Given the description of an element on the screen output the (x, y) to click on. 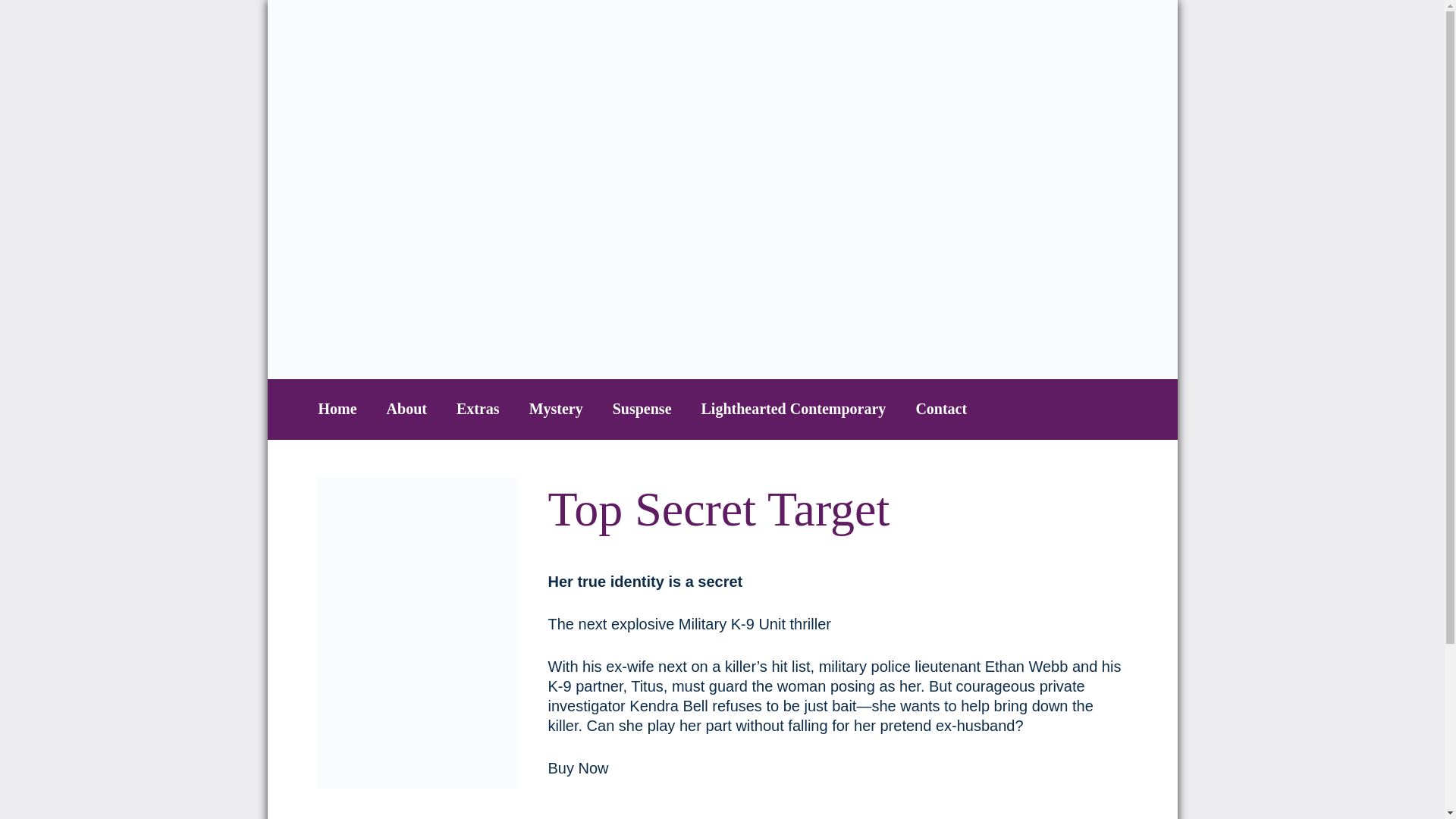
Mystery (556, 408)
Home (337, 408)
Contact (940, 408)
About (406, 408)
Suspense (641, 408)
Extras (478, 408)
Lighthearted Contemporary (793, 408)
